Given the description of an element on the screen output the (x, y) to click on. 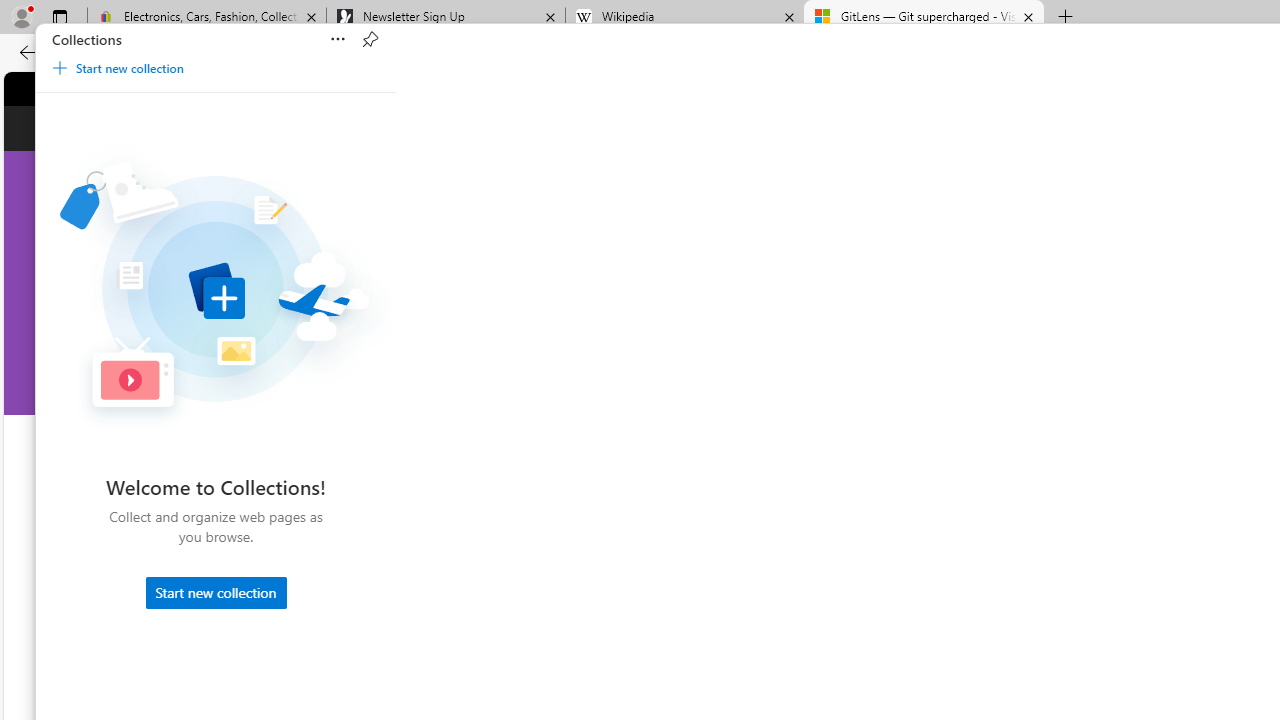
Sort (337, 39)
Pin Collections (369, 39)
Start new collection (215, 592)
